Given the description of an element on the screen output the (x, y) to click on. 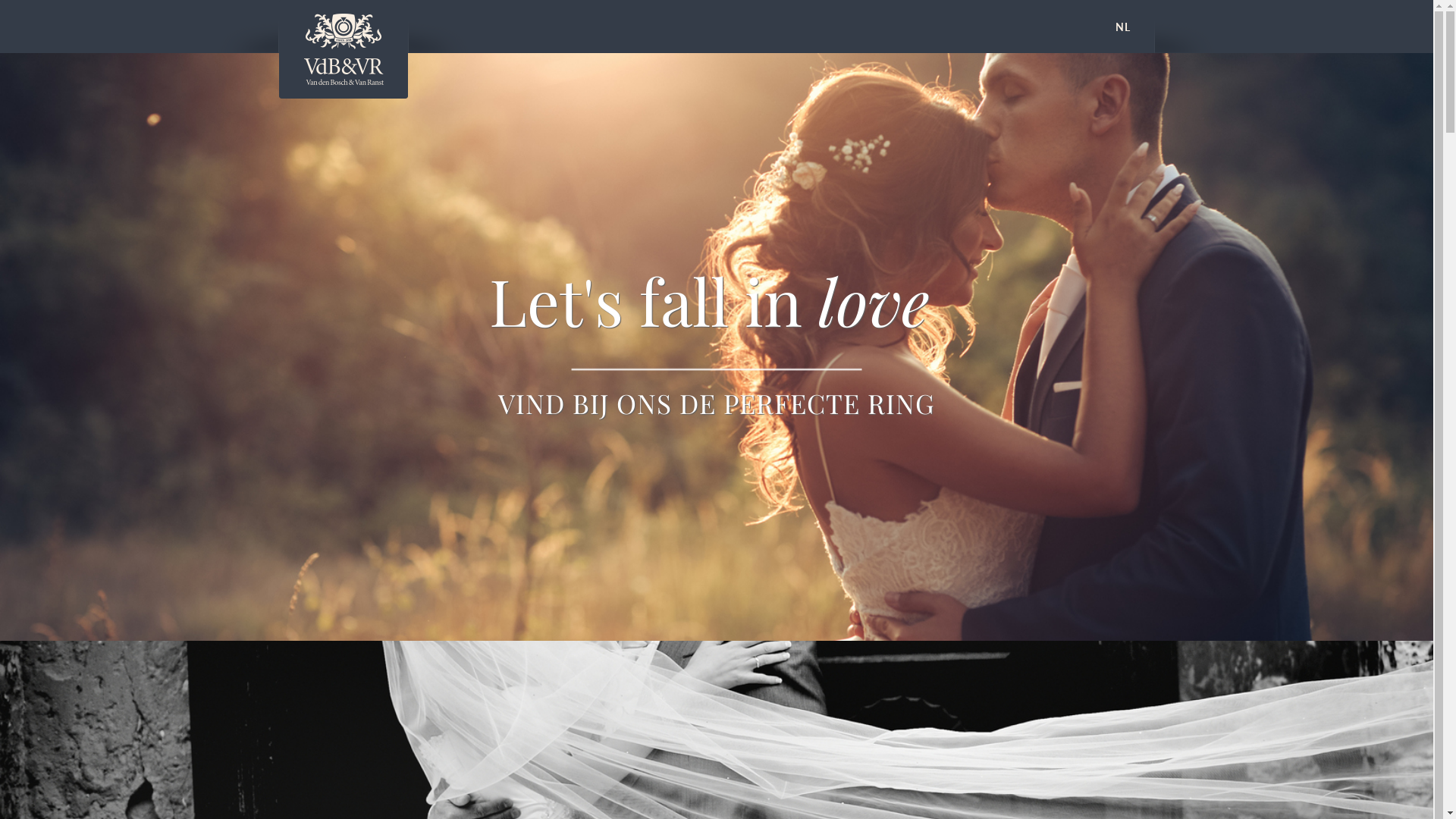
Van den Bosch & Van Ranst Element type: text (343, 49)
Let's fall in love 
VIND BIJ ONS DE PERFECTE RING Element type: text (716, 346)
NL Element type: text (1122, 26)
